Given the description of an element on the screen output the (x, y) to click on. 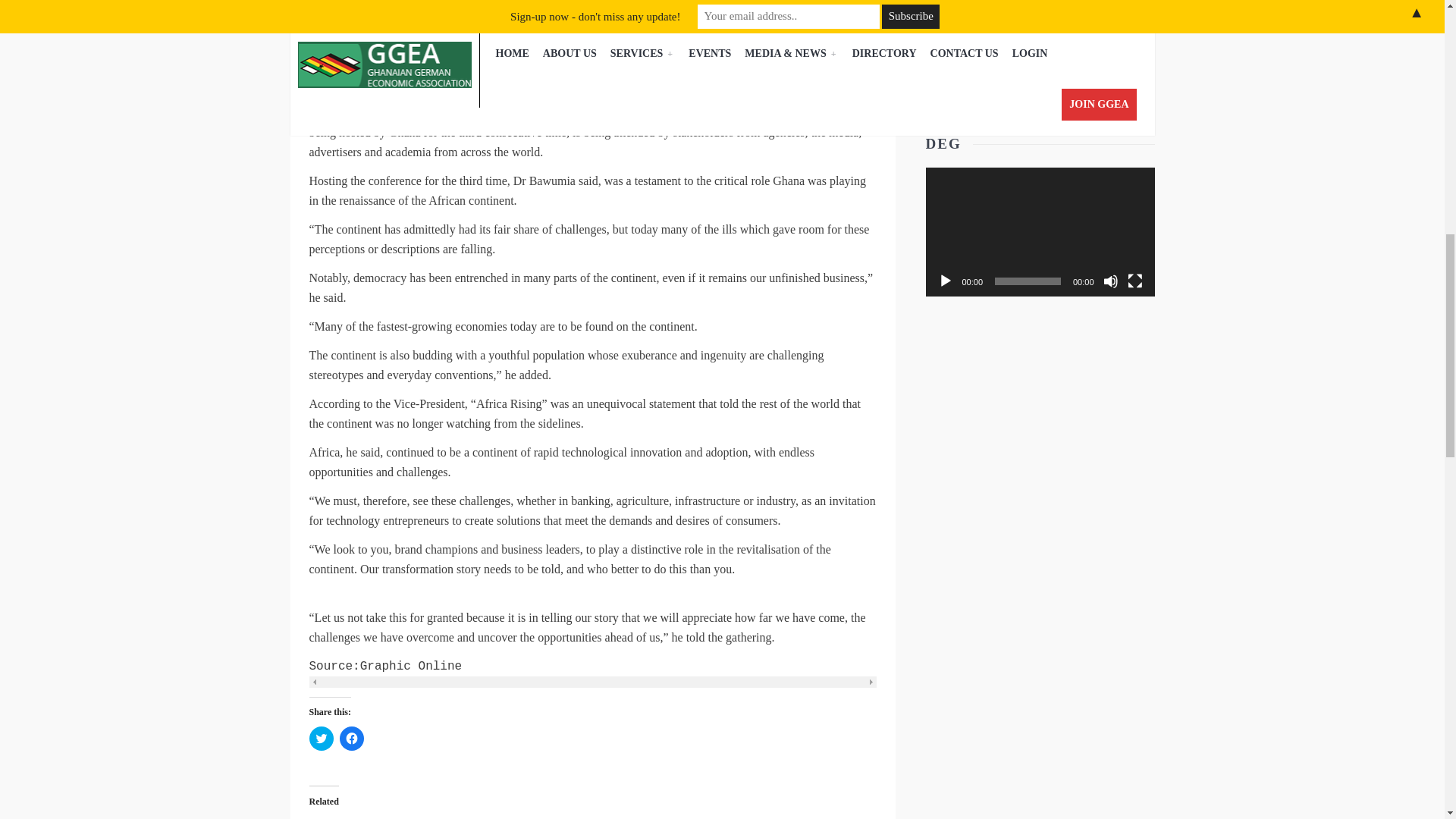
Click to share on Facebook (351, 738)
Fullscreen (1133, 281)
Click to share on Twitter (320, 738)
Play (944, 281)
Mute (1110, 281)
